Given the description of an element on the screen output the (x, y) to click on. 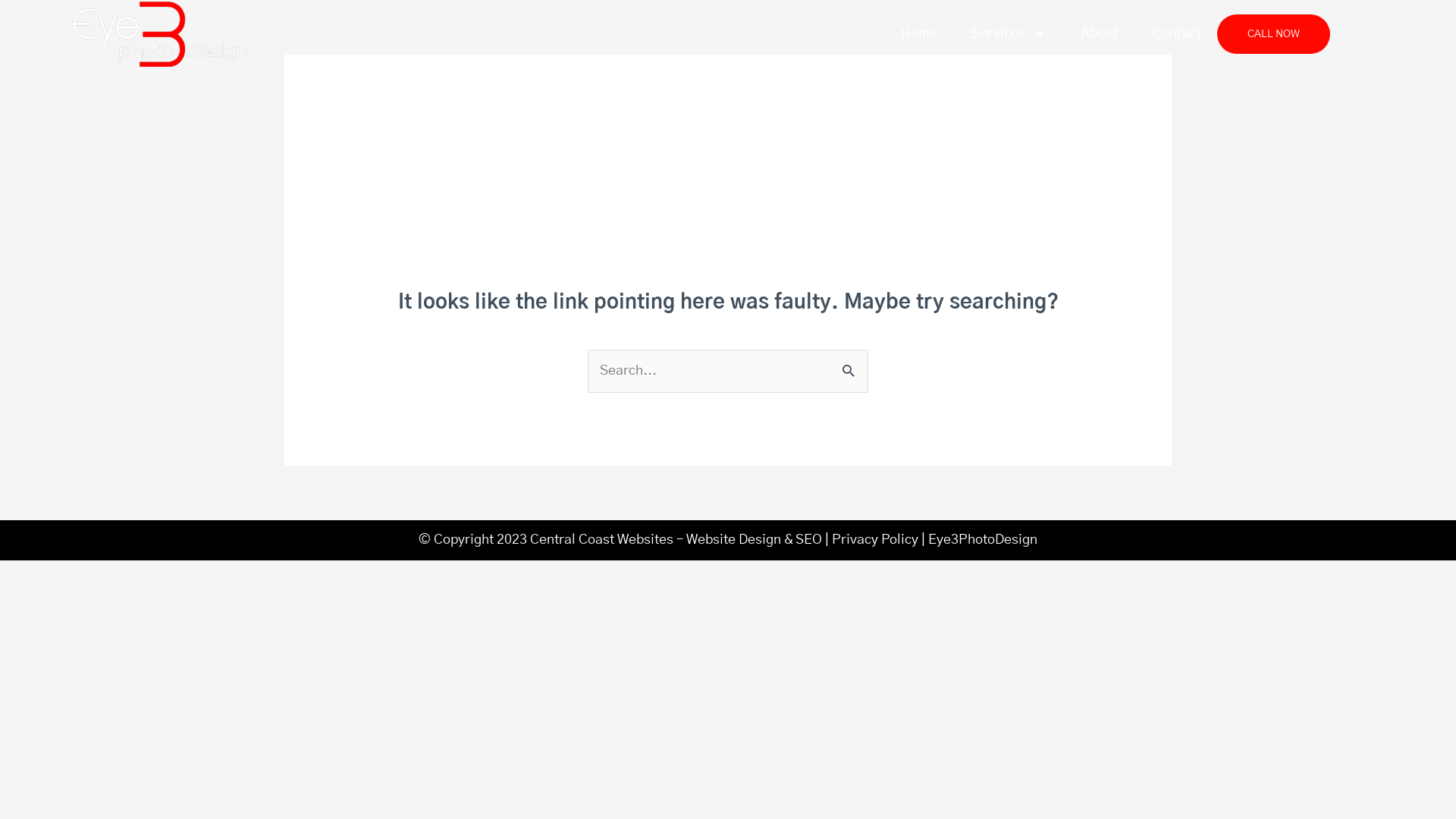
Privacy Policy Element type: text (874, 539)
SEO Element type: text (808, 539)
Services Element type: text (1008, 34)
Search Element type: text (851, 367)
Contact Element type: text (1177, 34)
About Element type: text (1099, 34)
CALL NOW Element type: text (1273, 33)
Eye3PhotoDesign Logo Element type: hover (159, 33)
Home Element type: text (918, 34)
